Given the description of an element on the screen output the (x, y) to click on. 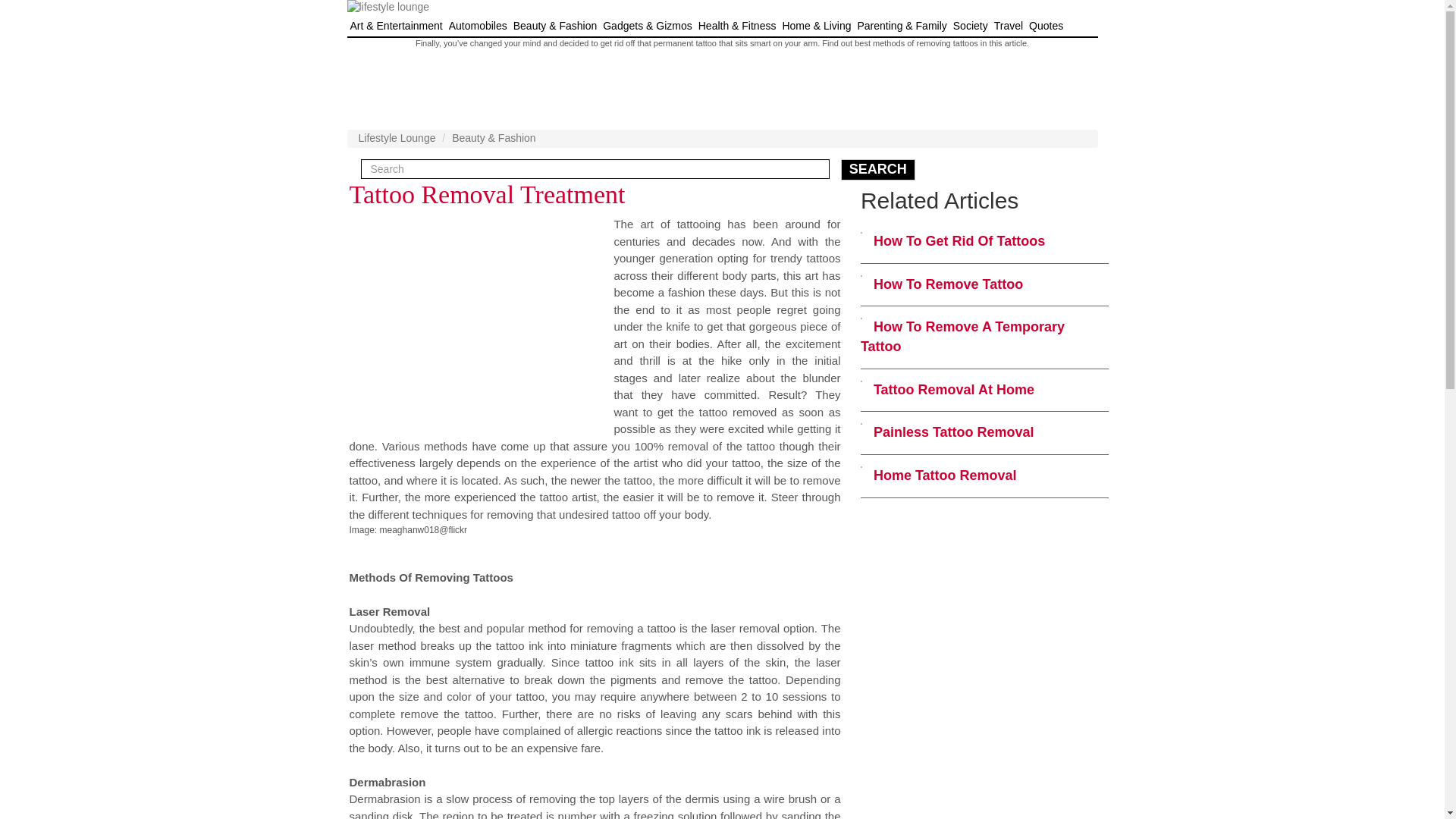
SEARCH (878, 169)
How To Remove A Temporary Tattoo (962, 336)
How To Remove Tattoo (948, 283)
Automobiles (478, 25)
How To Get Rid Of Tattoos (959, 240)
Painless Tattoo Removal (953, 432)
Home Tattoo Removal (944, 475)
Lifestyle Lounge (396, 137)
Tattoo Removal At Home (953, 389)
Quotes (1045, 25)
